Given the description of an element on the screen output the (x, y) to click on. 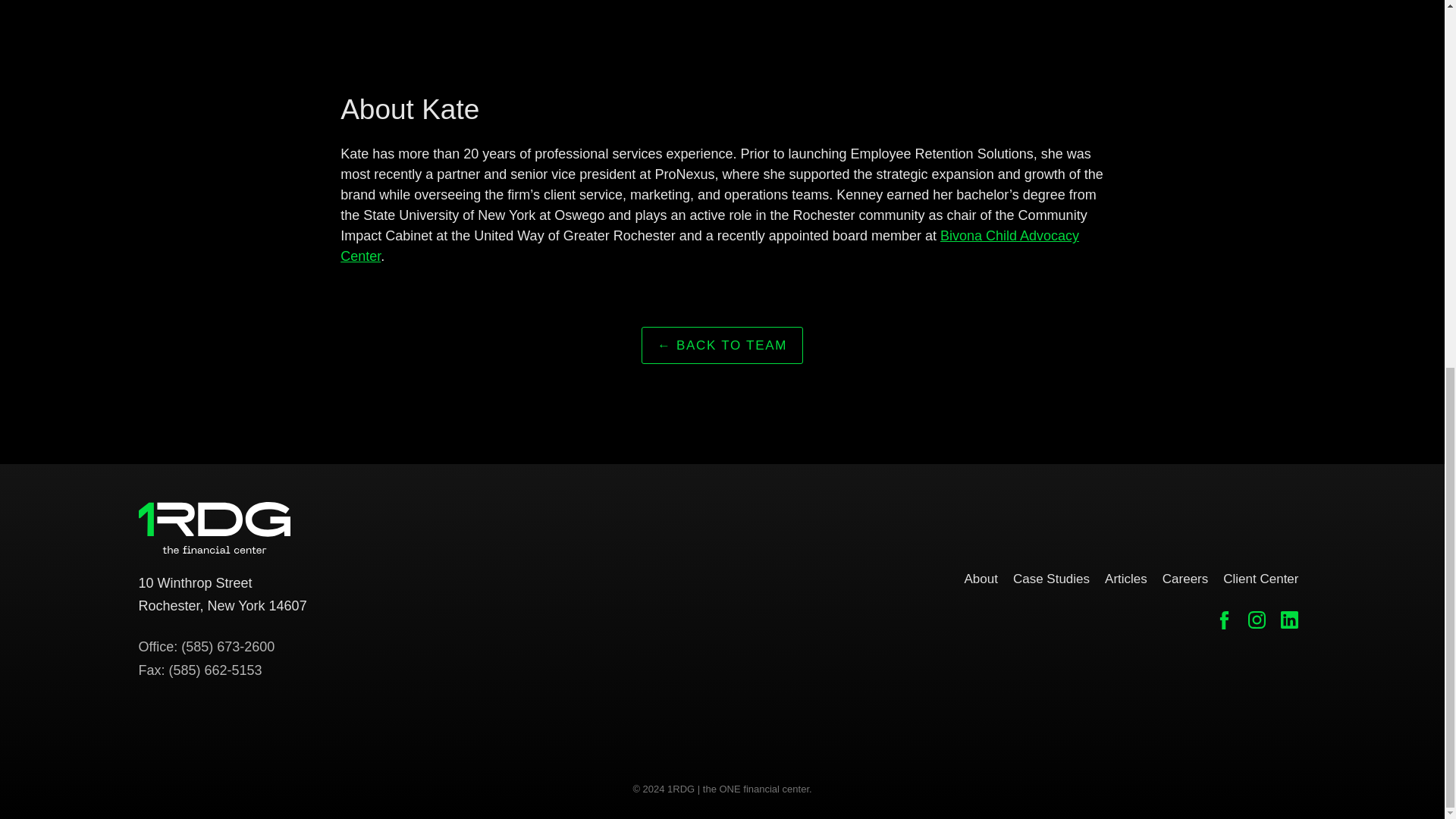
Careers (1184, 576)
Client Center (1260, 576)
Case Studies (221, 594)
Articles (1051, 576)
Bivona Child Advocacy Center (1125, 576)
About (709, 245)
